Given the description of an element on the screen output the (x, y) to click on. 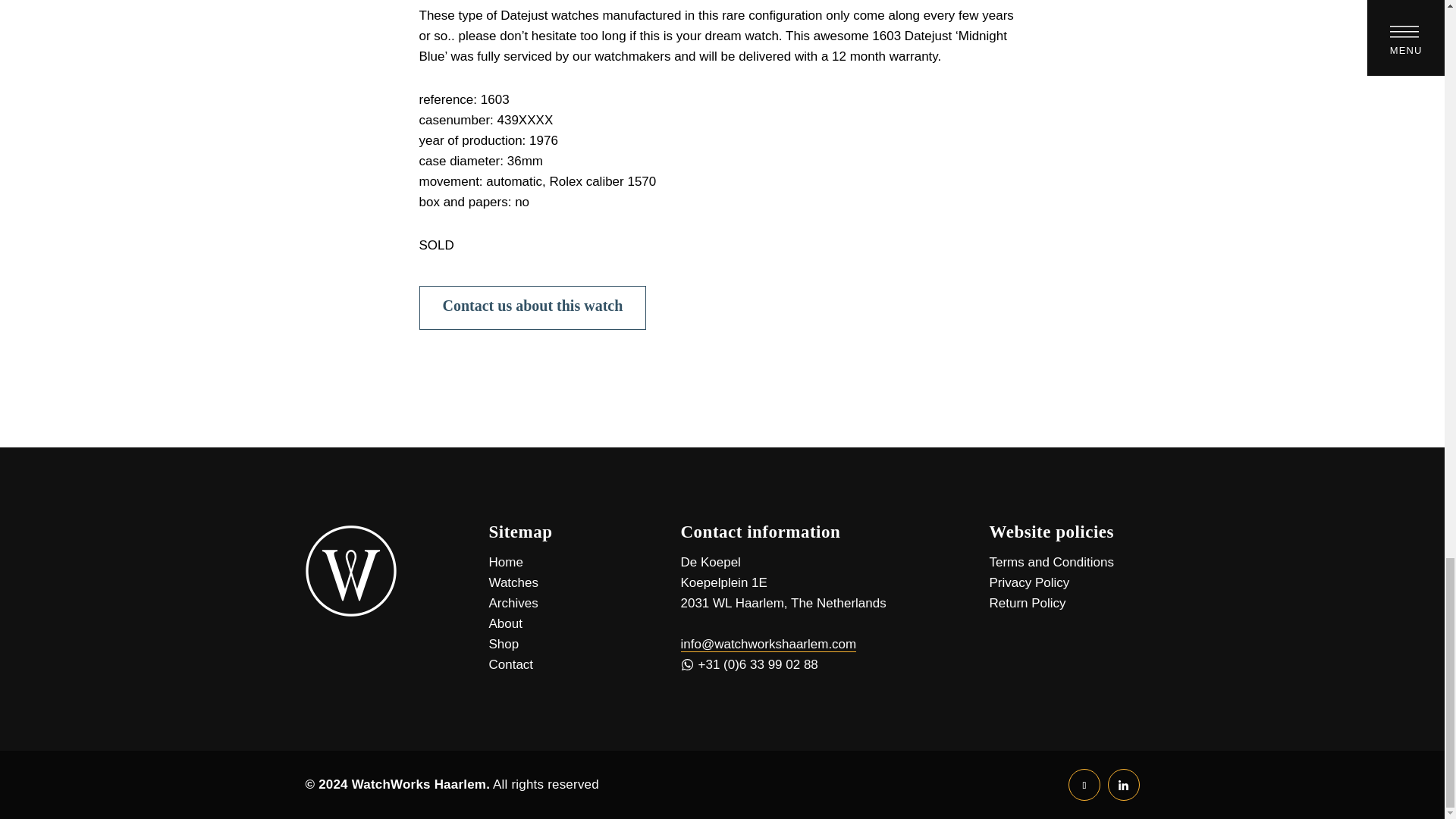
Shop (502, 644)
Terms and Conditions (1050, 562)
Contact us about this watch (532, 307)
Home (504, 562)
Watches (512, 582)
About (504, 623)
Return Policy (1026, 603)
Contact (509, 664)
Privacy Policy (1028, 582)
Archives (512, 603)
